Given the description of an element on the screen output the (x, y) to click on. 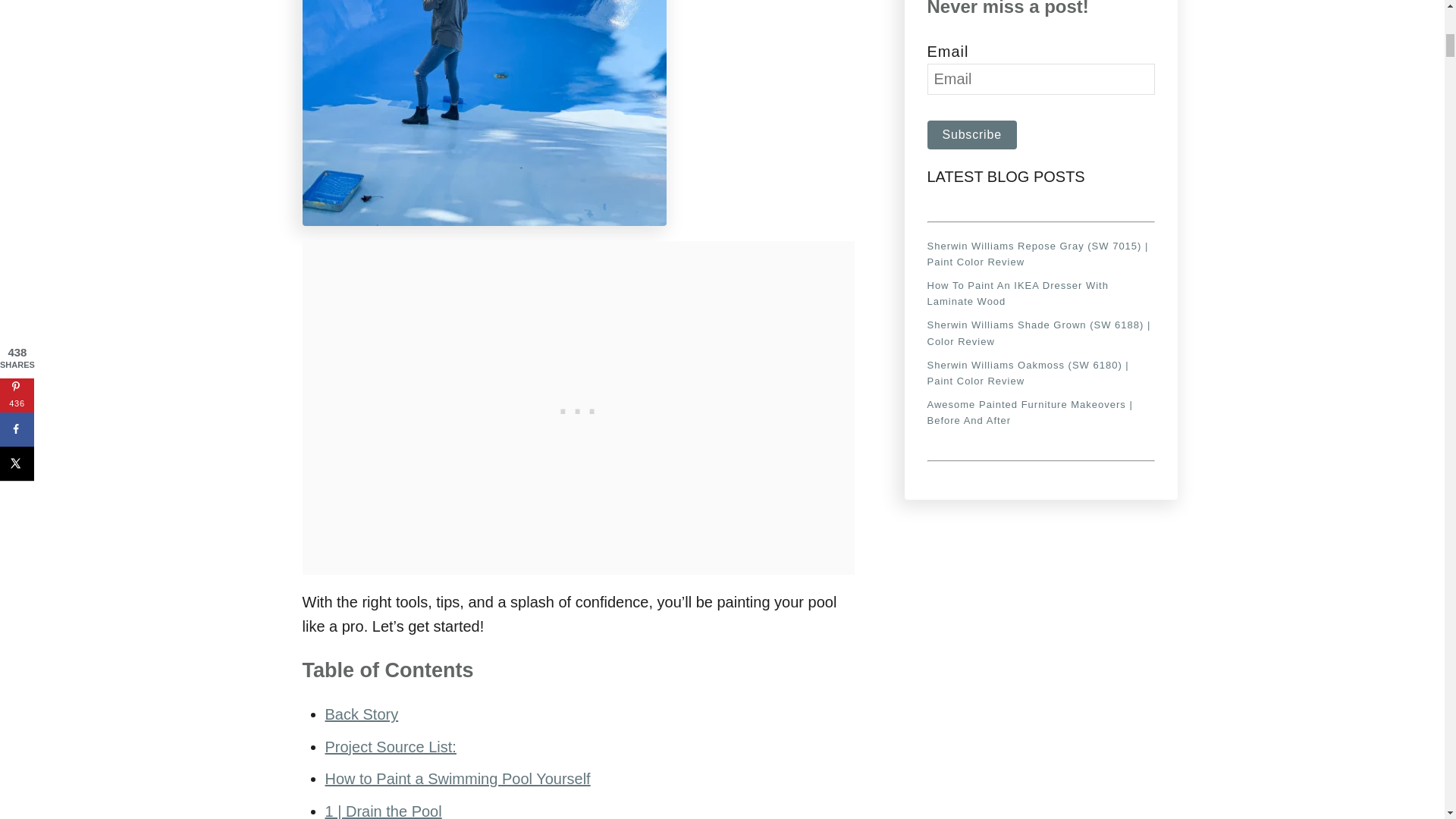
Project Source List: (389, 746)
Back Story (360, 713)
How to Paint a Swimming Pool Yourself (456, 778)
